Given the description of an element on the screen output the (x, y) to click on. 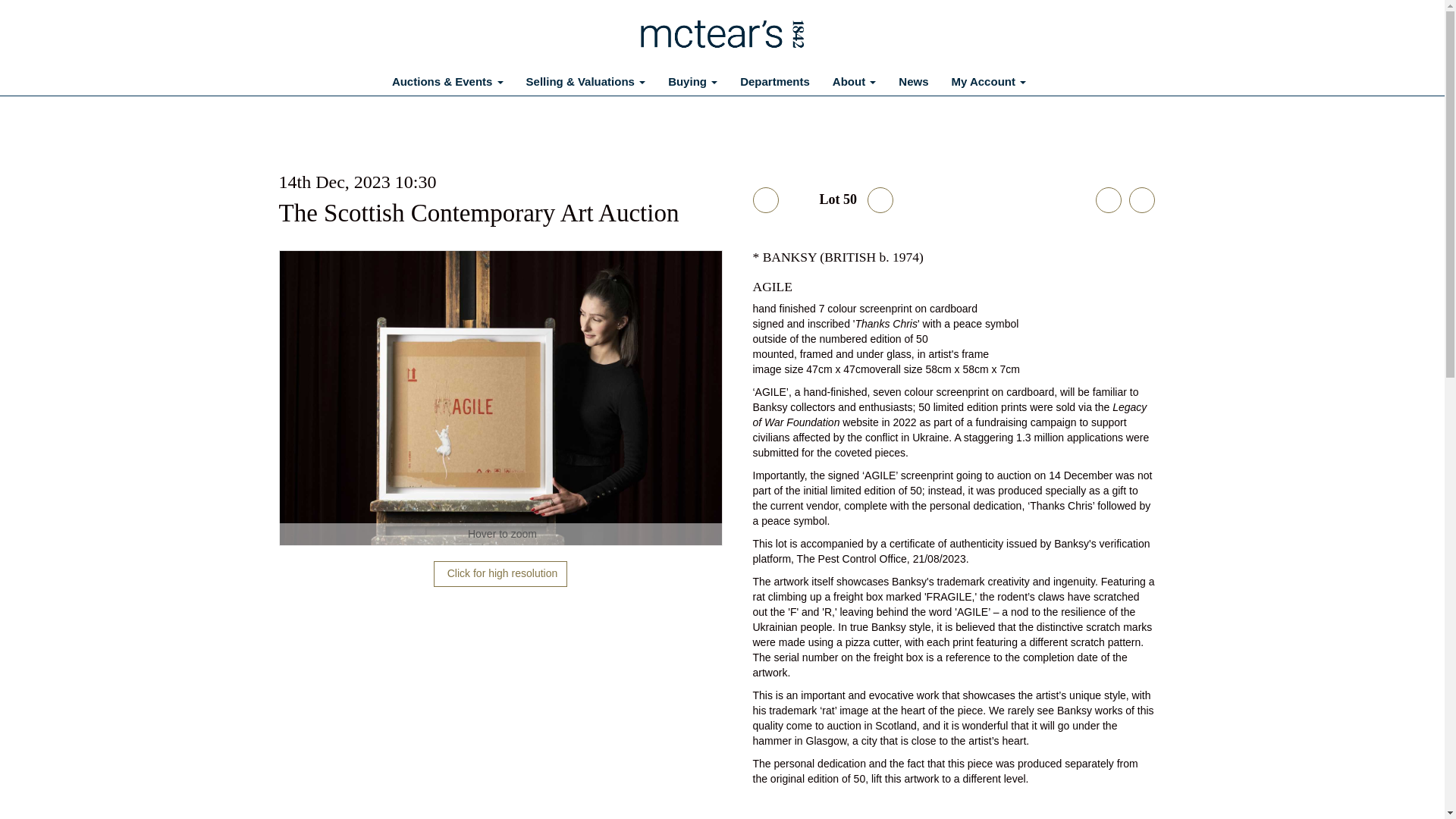
Add to wishlist (1141, 199)
Back to list (764, 199)
News (912, 81)
The Scottish Contemporary Art Auction (479, 212)
Buying (692, 81)
My Account (989, 81)
Download lot details PDF (1107, 199)
About (853, 81)
Click for high resolution (500, 398)
Departments (775, 81)
Next lot (880, 199)
